Given the description of an element on the screen output the (x, y) to click on. 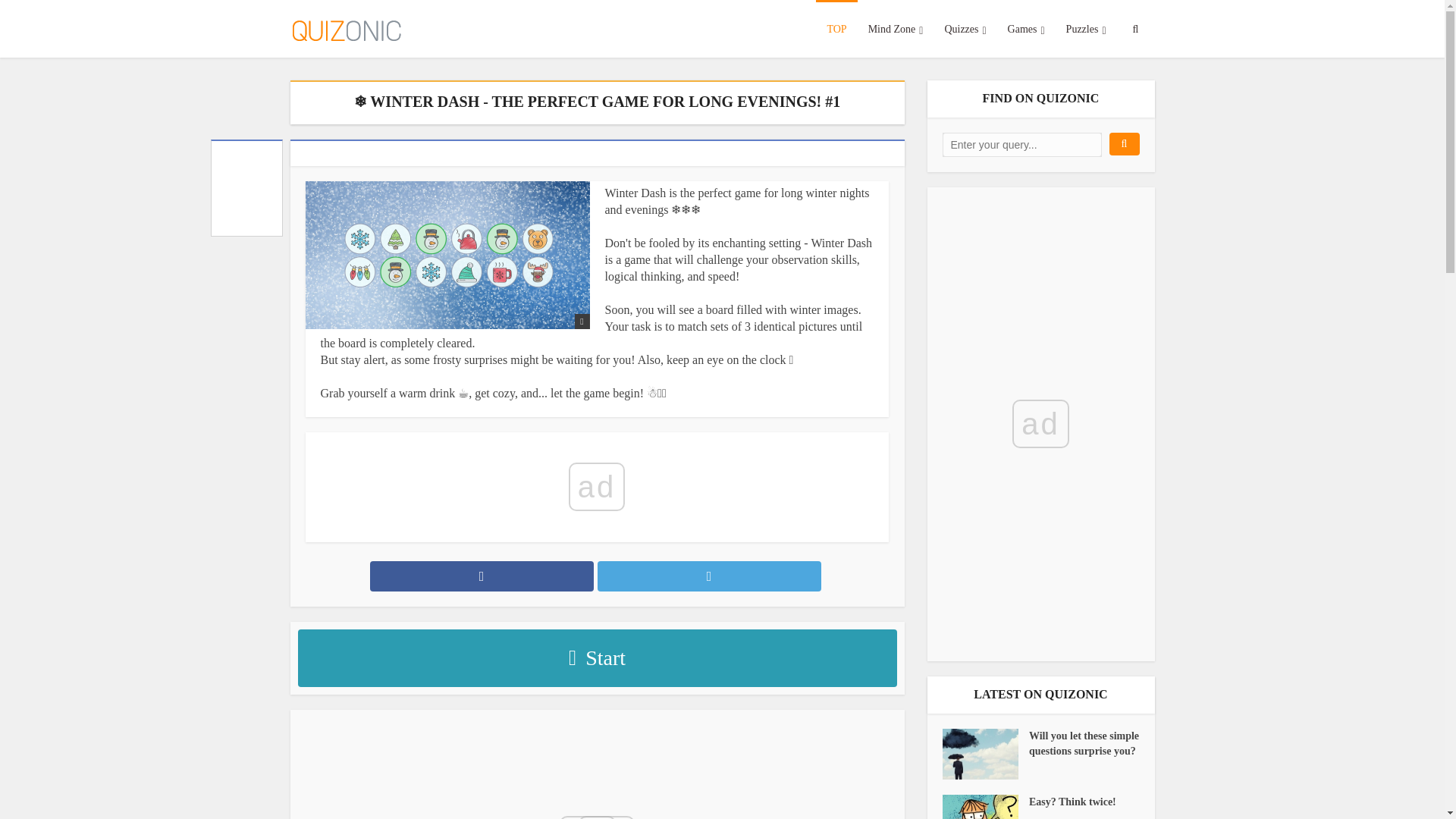
Start (596, 658)
Mind Zone (895, 28)
Games (1026, 28)
Quizzes (964, 28)
Puzzles (1085, 28)
